Given the description of an element on the screen output the (x, y) to click on. 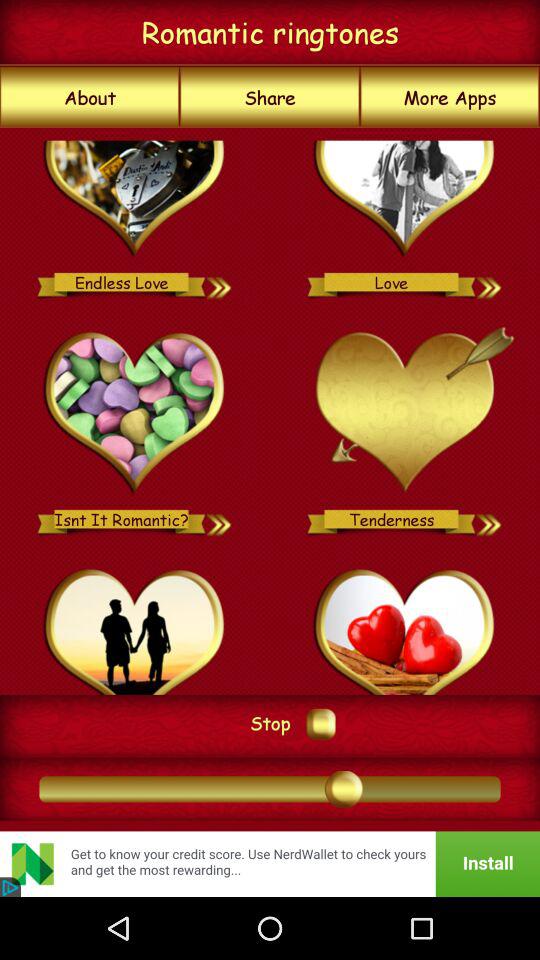
learn more about nerdwallet (270, 864)
